Given the description of an element on the screen output the (x, y) to click on. 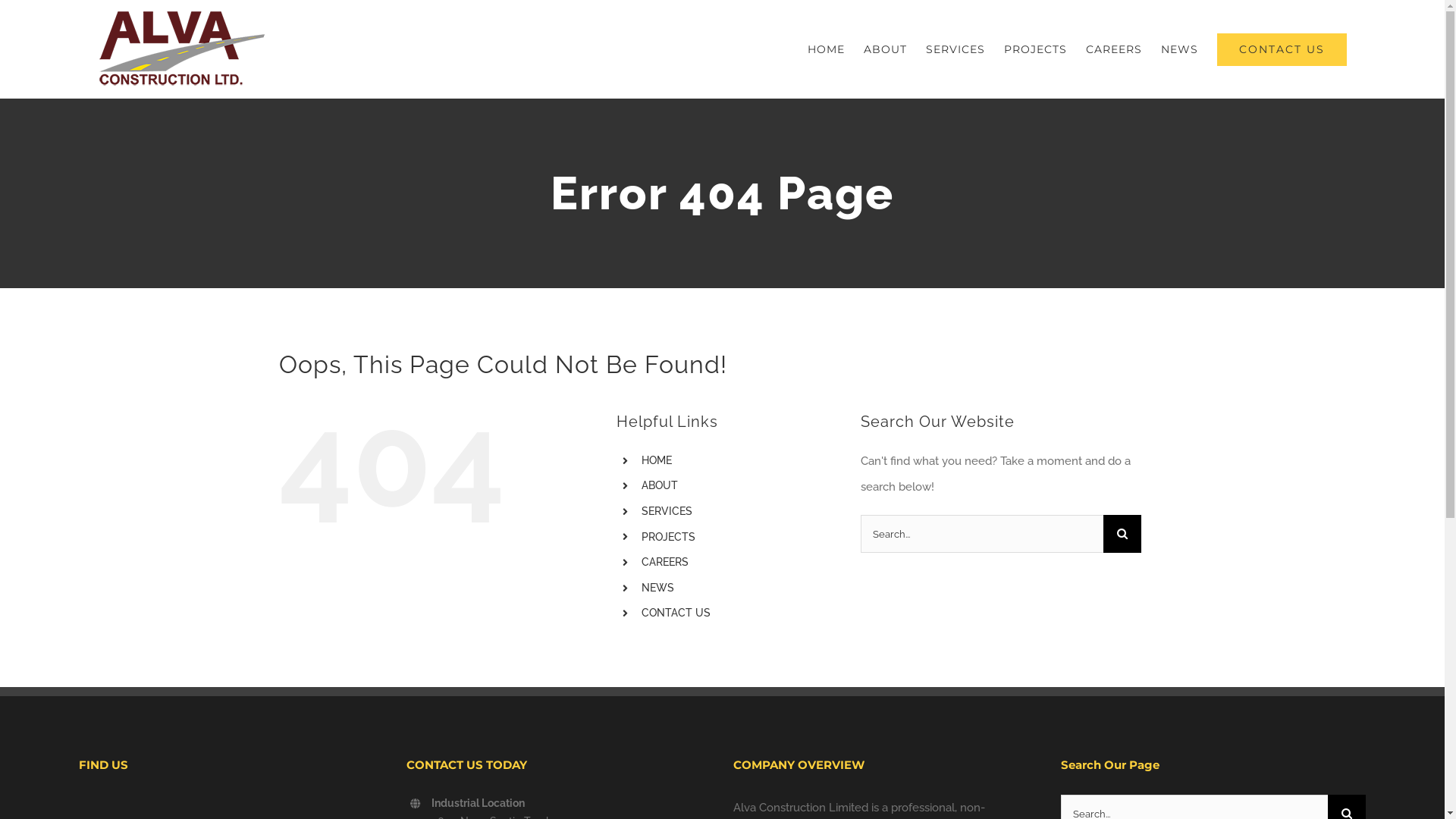
SERVICES Element type: text (666, 511)
CONTACT US Element type: text (675, 612)
SERVICES Element type: text (955, 49)
NEWS Element type: text (657, 587)
ABOUT Element type: text (659, 485)
PROJECTS Element type: text (668, 536)
CAREERS Element type: text (1113, 49)
HOME Element type: text (656, 460)
HOME Element type: text (825, 49)
ABOUT Element type: text (884, 49)
NEWS Element type: text (1179, 49)
PROJECTS Element type: text (1035, 49)
CONTACT US Element type: text (1281, 49)
CAREERS Element type: text (664, 561)
